Given the description of an element on the screen output the (x, y) to click on. 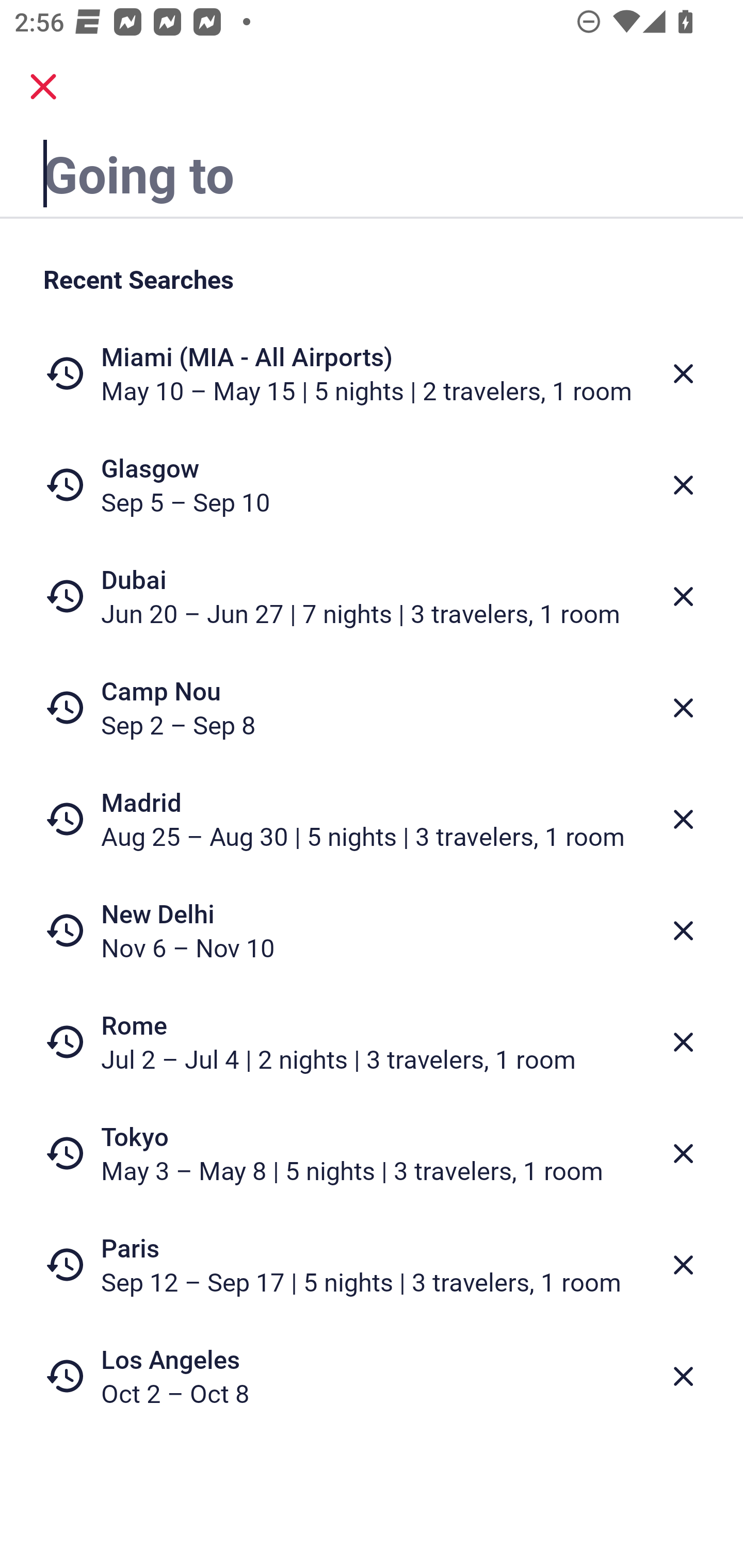
close. (43, 86)
Delete from recent searches (683, 373)
Glasgow Sep 5 – Sep 10 (371, 484)
Delete from recent searches (683, 485)
Delete from recent searches (683, 596)
Camp Nou Sep 2 – Sep 8 (371, 707)
Delete from recent searches (683, 707)
Delete from recent searches (683, 819)
New Delhi Nov 6 – Nov 10 (371, 930)
Delete from recent searches (683, 930)
Delete from recent searches (683, 1041)
Delete from recent searches (683, 1153)
Delete from recent searches (683, 1265)
Los Angeles Oct 2 – Oct 8 (371, 1375)
Delete from recent searches (683, 1376)
